Given the description of an element on the screen output the (x, y) to click on. 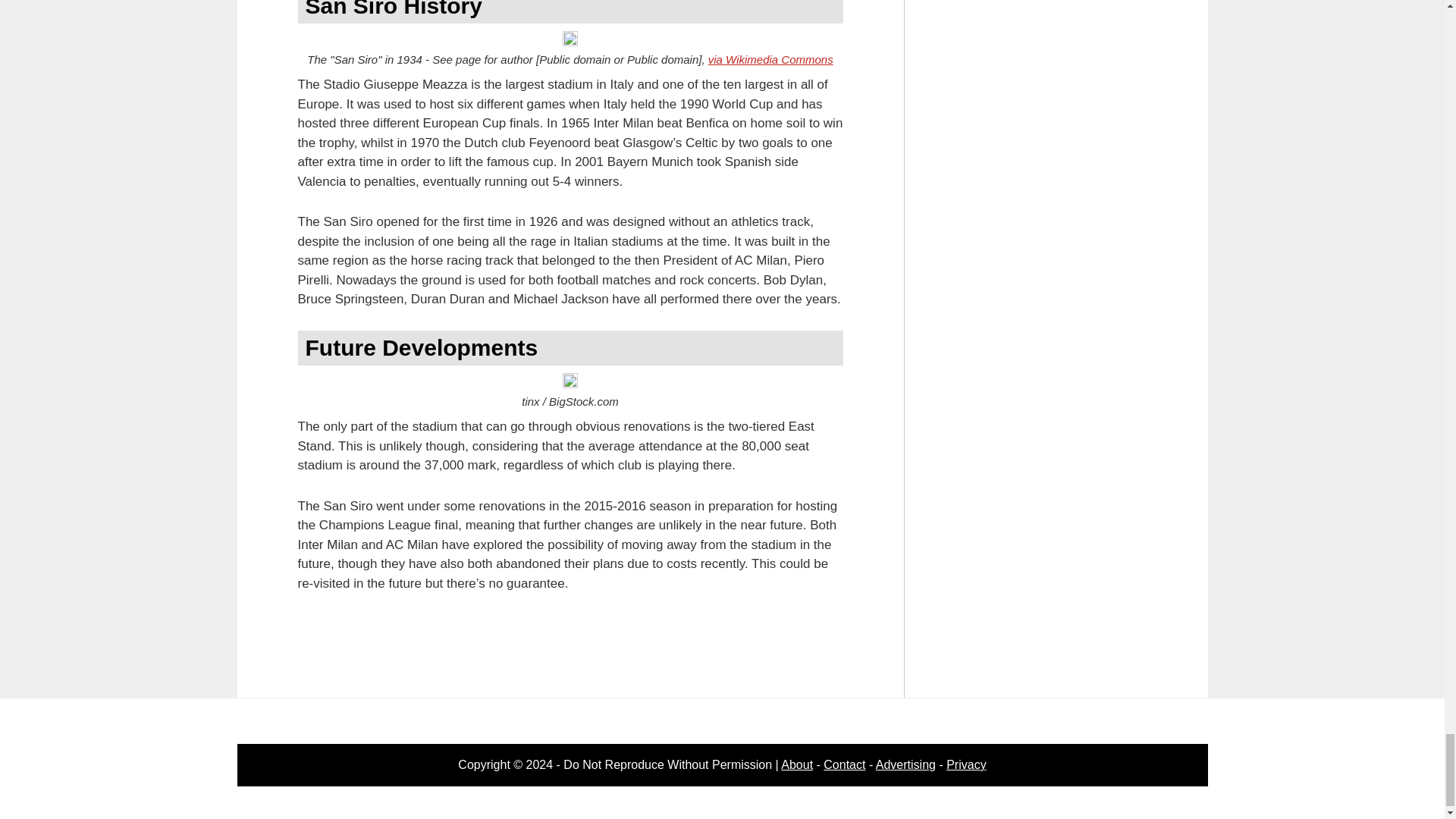
via Wikimedia Commons (769, 59)
